Given the description of an element on the screen output the (x, y) to click on. 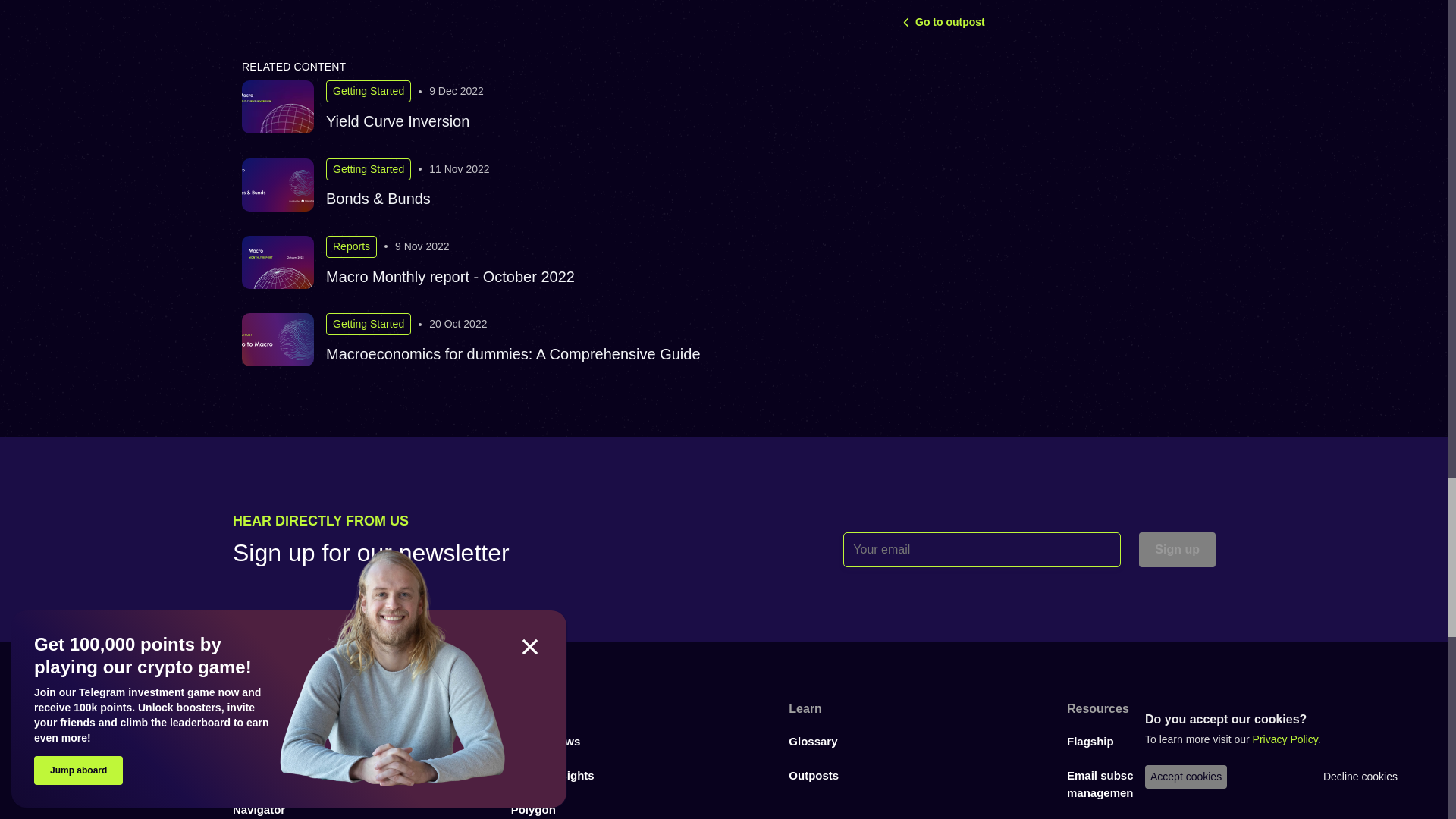
Yield Curve Inversion (397, 121)
Macro Monthly report - October 2022 (450, 276)
Getting Started (368, 169)
Reports (351, 246)
Getting Started (368, 91)
